Given the description of an element on the screen output the (x, y) to click on. 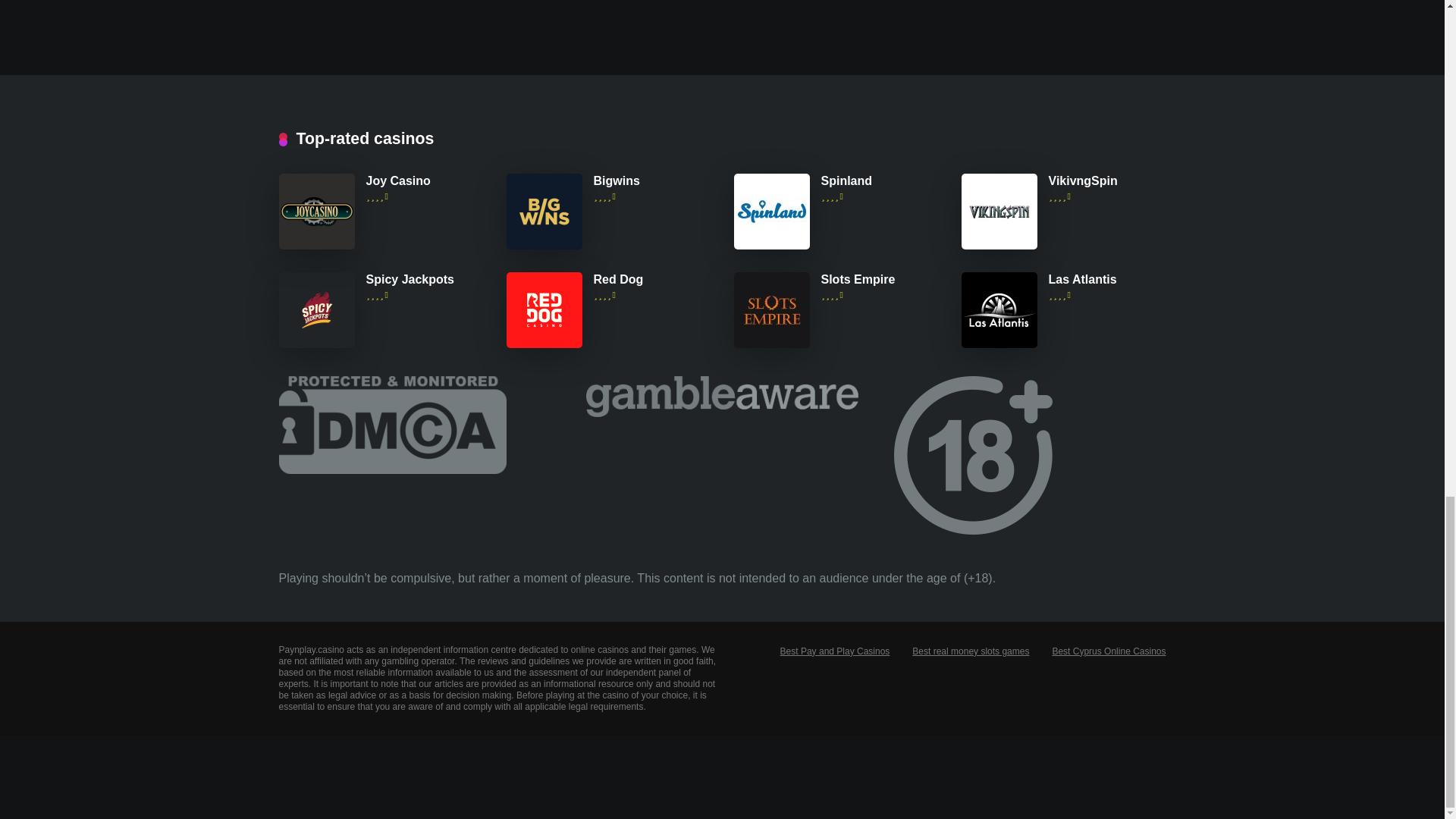
Joy Casino (397, 181)
Slots Empire (858, 279)
Las Atlantis (1082, 279)
Best Cyprus Online Casinos (1108, 651)
Spicy Jackpots (409, 279)
Spinland (846, 181)
Bigwins (615, 181)
VikivngSpin (1082, 181)
Best Pay and Play Casinos (834, 651)
Joy Casino (317, 245)
